Given the description of an element on the screen output the (x, y) to click on. 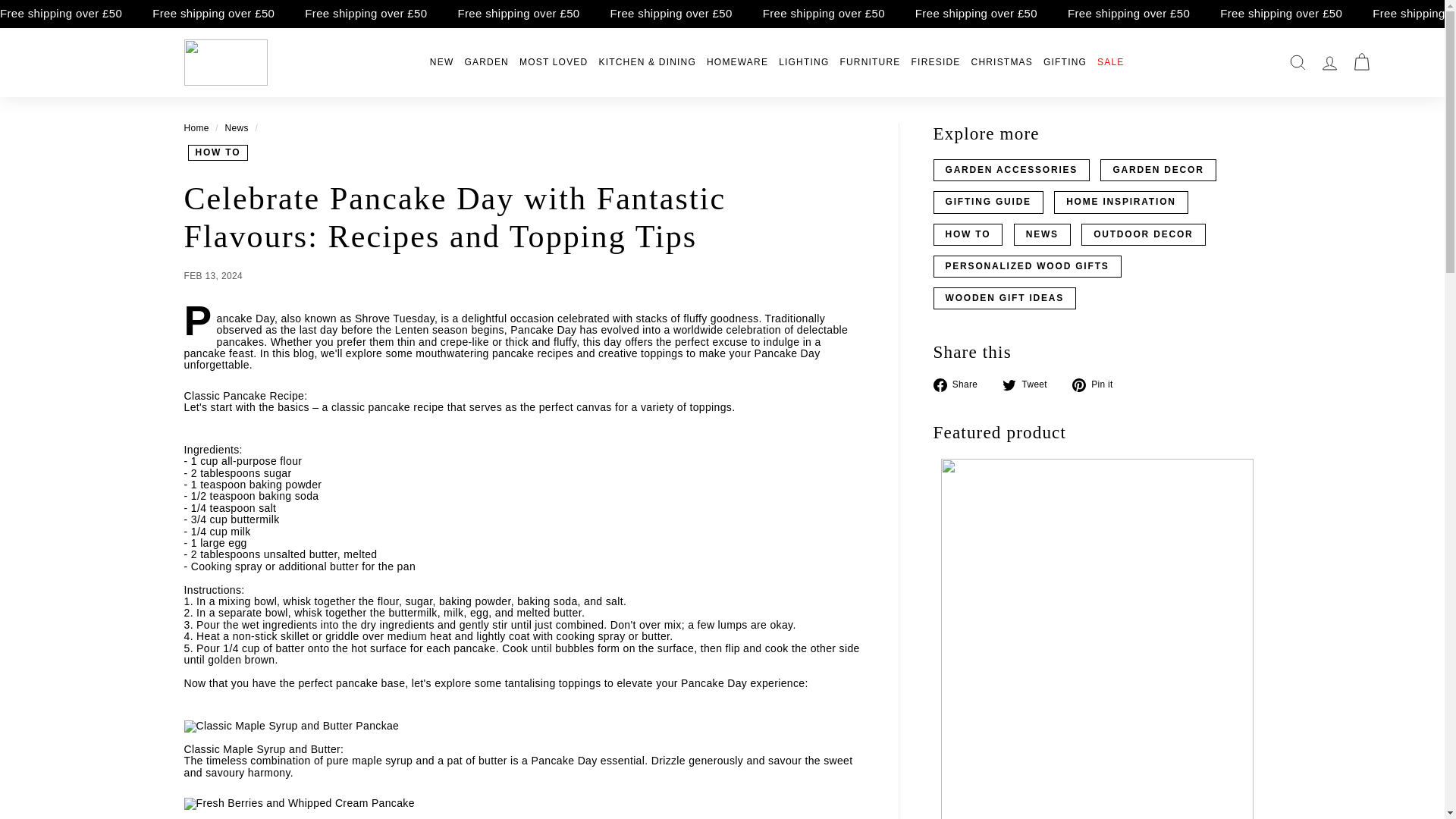
twitter (1009, 385)
MOST LOVED (552, 62)
Pin on Pinterest (1097, 385)
NEW (442, 62)
Share on Facebook (960, 385)
Tweet on Twitter (1030, 385)
Back to the frontpage (195, 127)
